Given the description of an element on the screen output the (x, y) to click on. 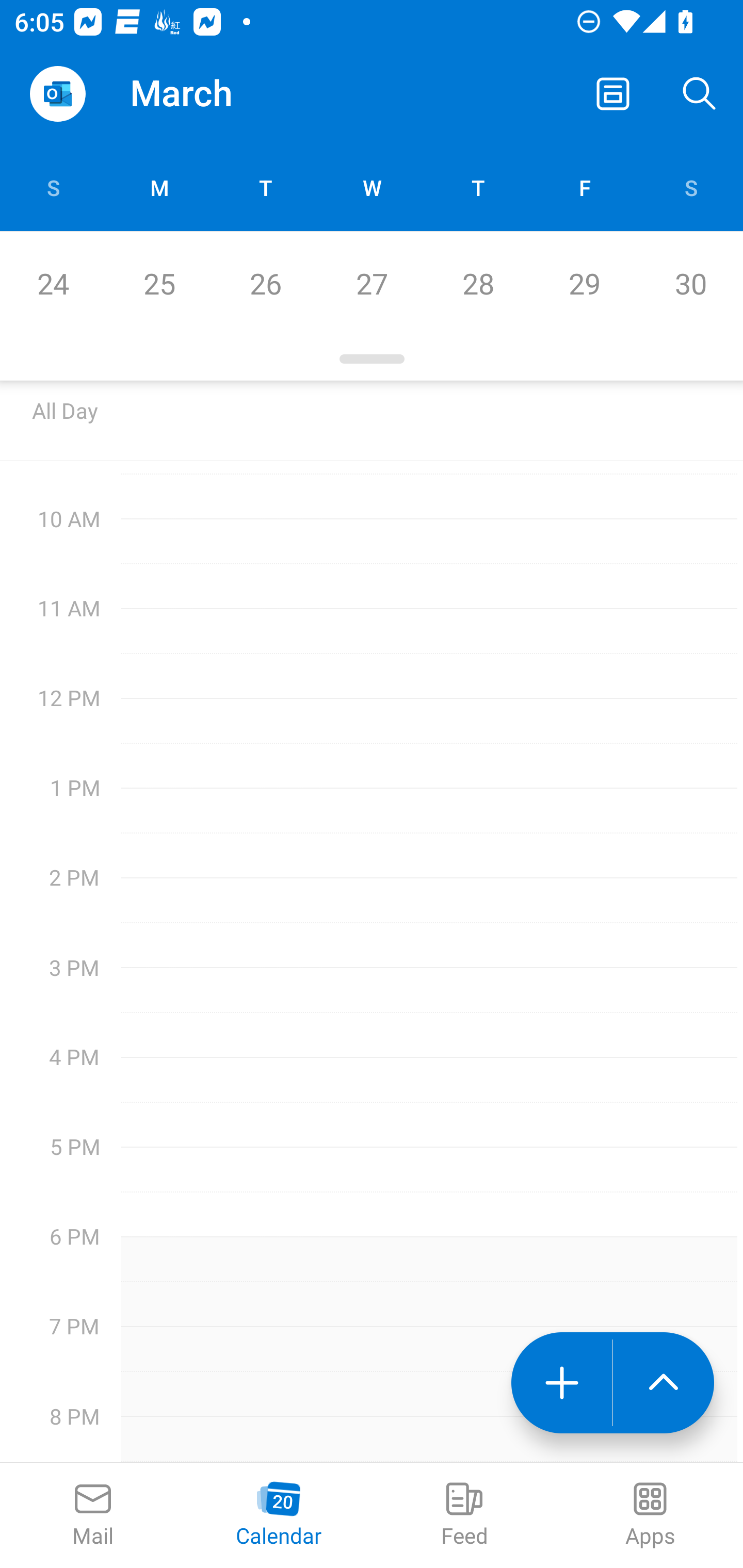
March March 2024, day picker (209, 93)
Switch away from Day view (612, 93)
Search, ,  (699, 93)
Open Navigation Drawer (57, 94)
24 Sunday, March 24 (53, 284)
25 Monday, March 25 (159, 284)
26 Tuesday, March 26 (265, 284)
27 Wednesday, March 27 (371, 284)
28 Thursday, March 28 (477, 284)
29 Friday, March 29 (584, 284)
30 Saturday, March 30 (690, 284)
Day picker (371, 359)
New event (561, 1382)
launch the extended action menu (663, 1382)
Mail (92, 1515)
Feed (464, 1515)
Apps (650, 1515)
